Given the description of an element on the screen output the (x, y) to click on. 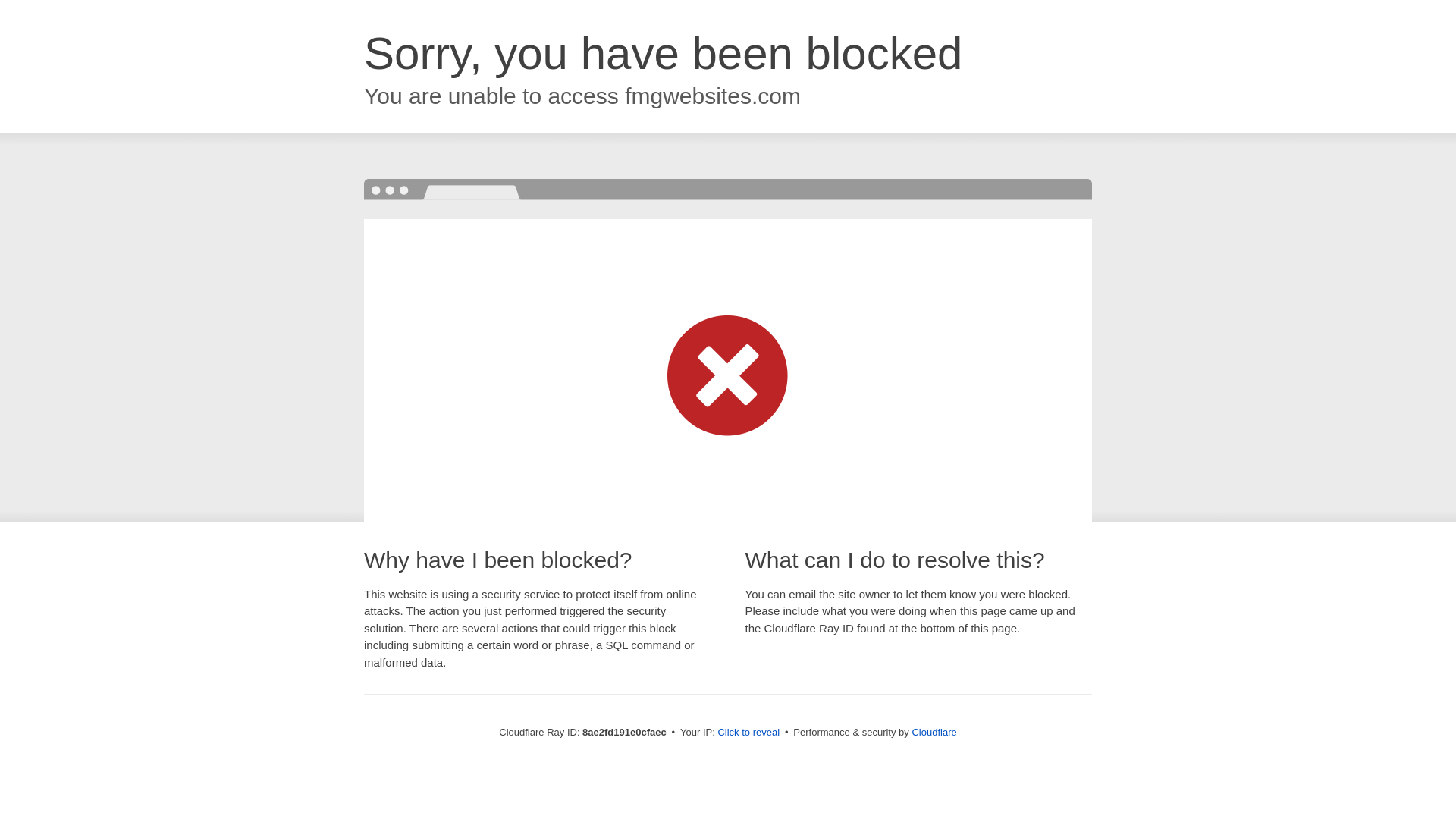
Click to reveal (747, 732)
Cloudflare (933, 731)
